Given the description of an element on the screen output the (x, y) to click on. 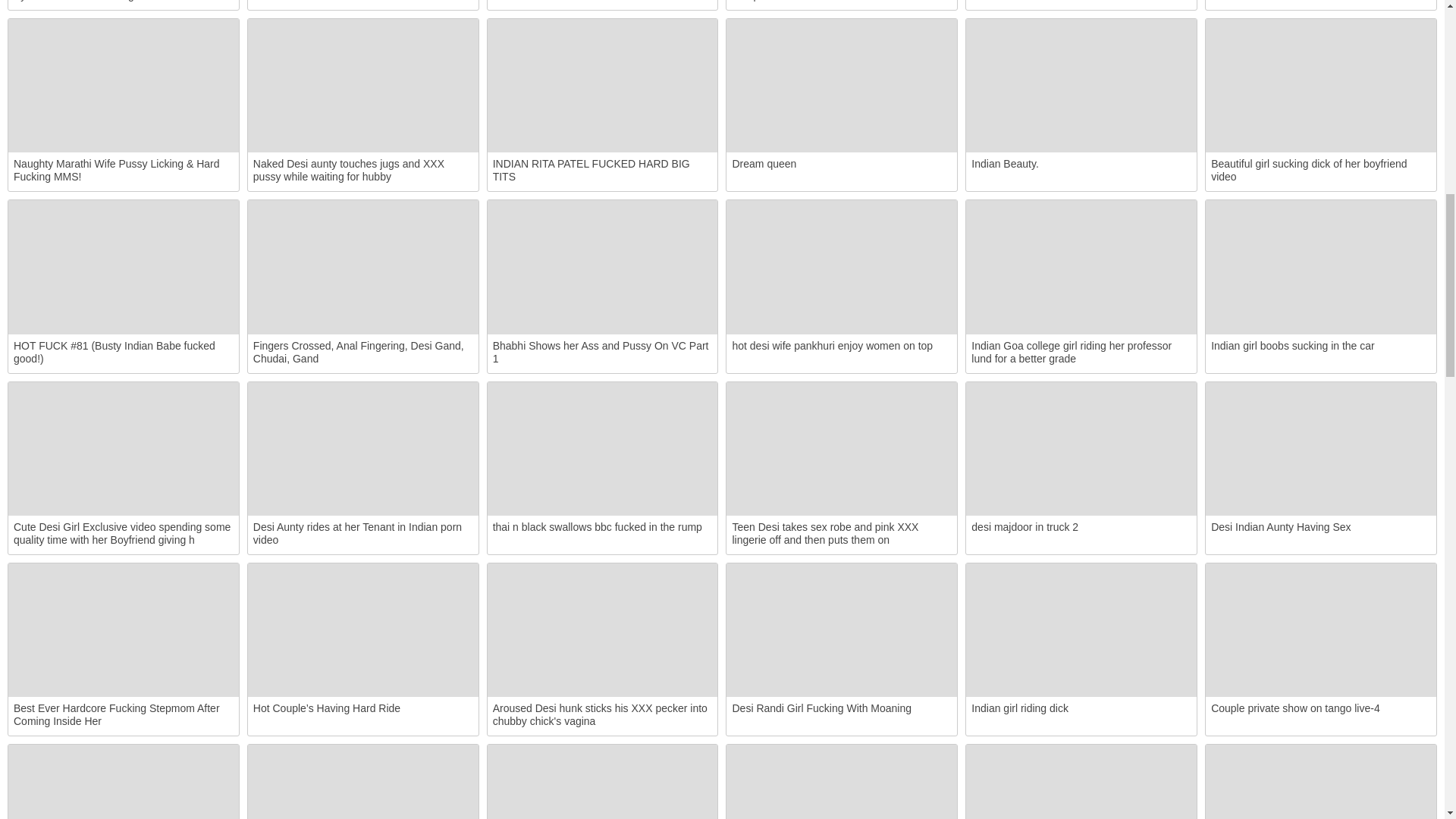
Indian Beauty. (1081, 85)
Indian girl boobs sucking in the car (1320, 266)
Dream queen (841, 85)
Bhabhi Shows her Ass and Pussy On VC Part 1 (602, 266)
Fingers Crossed, Anal Fingering, Desi Gand, Chudai, Gand (363, 266)
Beautiful girl sucking dick of her boyfriend video (1320, 85)
hot desi wife pankhuri enjoy women on top (841, 266)
